Given the description of an element on the screen output the (x, y) to click on. 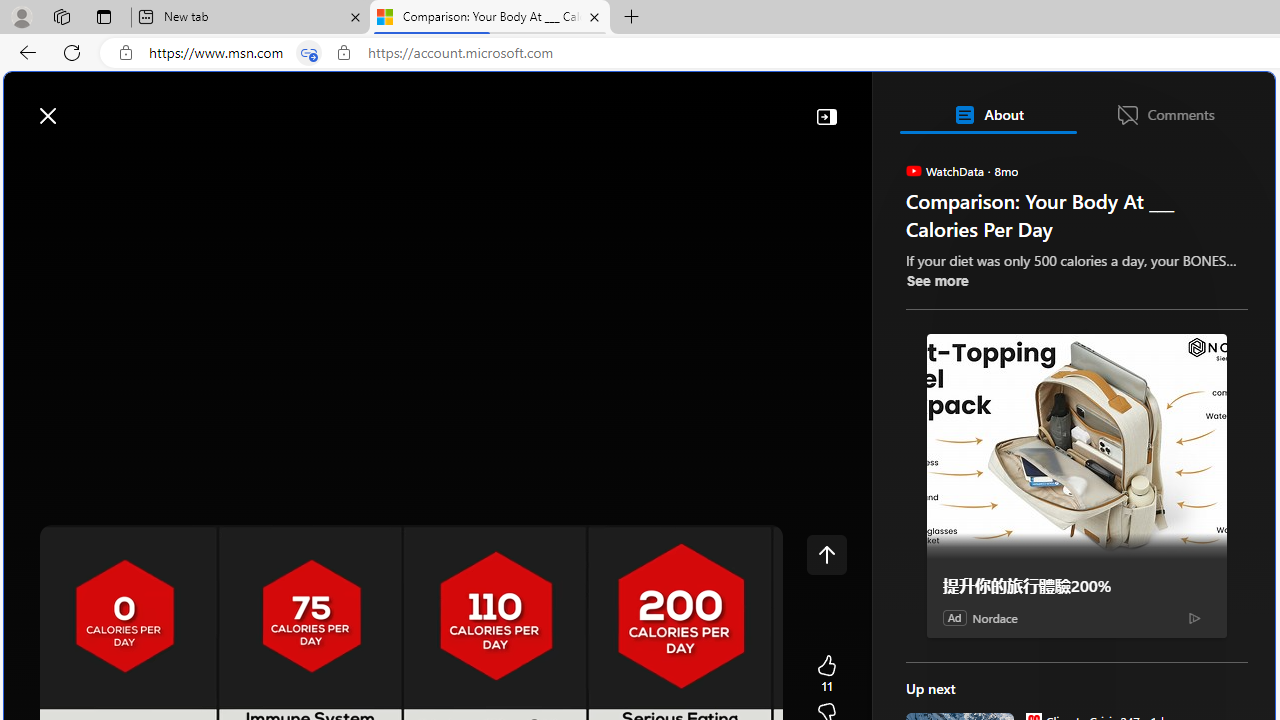
Open Copilot (995, 105)
Class: button-glyph (29, 162)
Class: control icon-only (826, 554)
Watch (257, 162)
Discover (84, 162)
Back (24, 52)
ABC News (974, 557)
Nordace (994, 617)
Ad Choice (1193, 617)
The Associated Press (974, 645)
Personalize (1195, 162)
Notifications (1190, 105)
Collapse (826, 115)
